Given the description of an element on the screen output the (x, y) to click on. 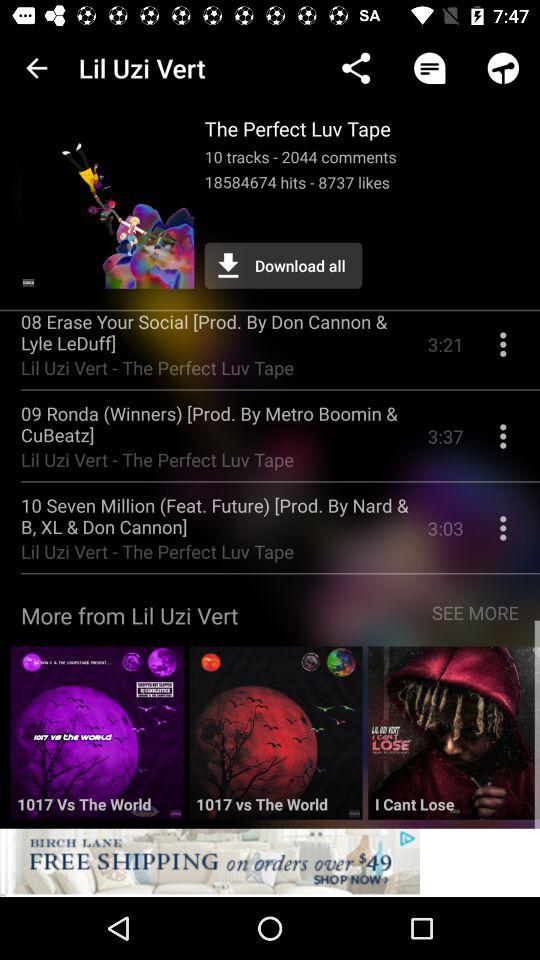
open track (454, 740)
